Given the description of an element on the screen output the (x, y) to click on. 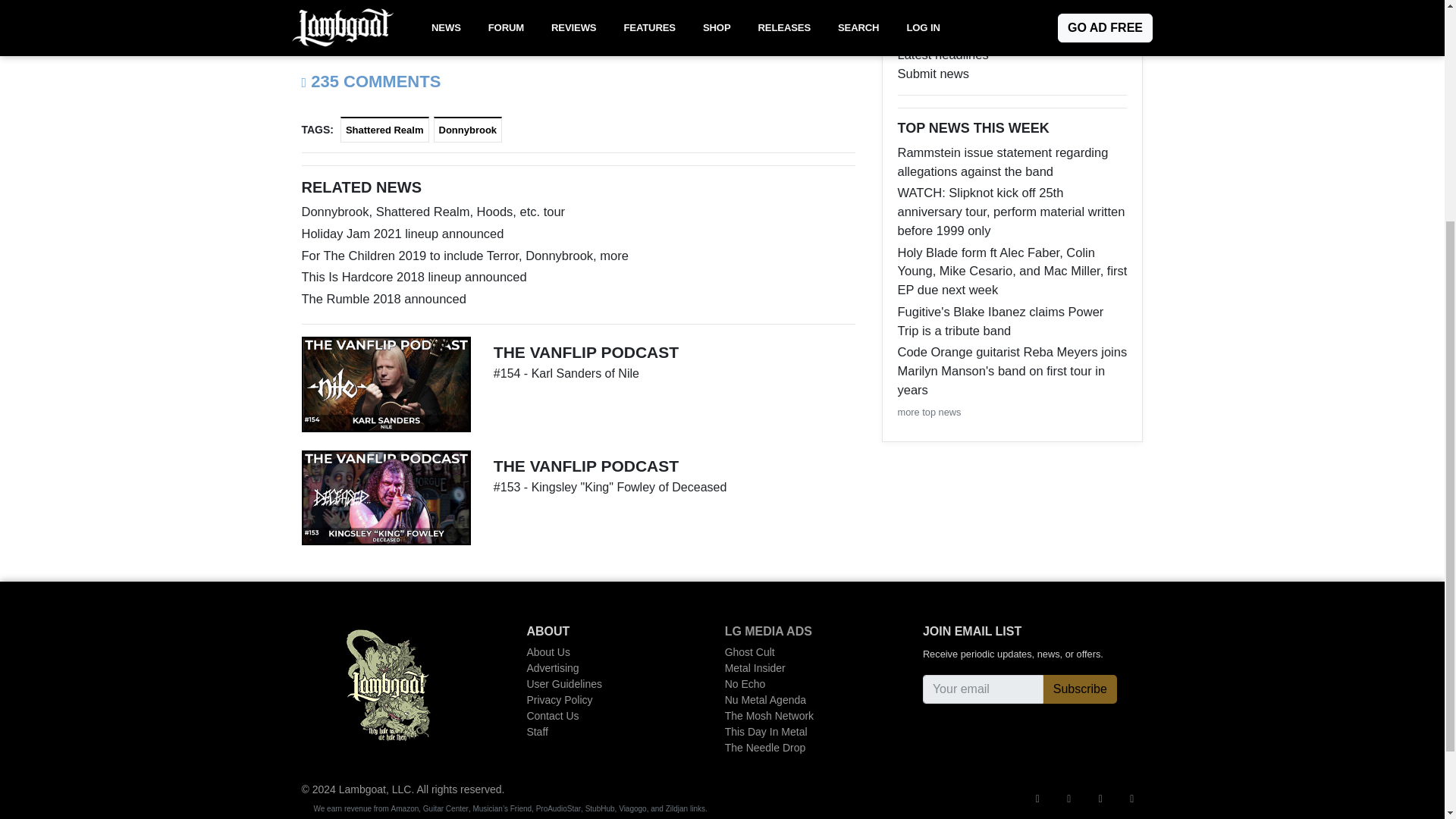
Submit news (1012, 73)
Subscribe (1079, 688)
For The Children 2019 to include Terror, Donnybrook, more (578, 255)
Search news (1012, 35)
The Rumble 2018 announced (578, 298)
235 COMMENTS (371, 81)
Shattered Realm (384, 130)
here (829, 20)
Donnybrook (467, 130)
here (339, 42)
